Given the description of an element on the screen output the (x, y) to click on. 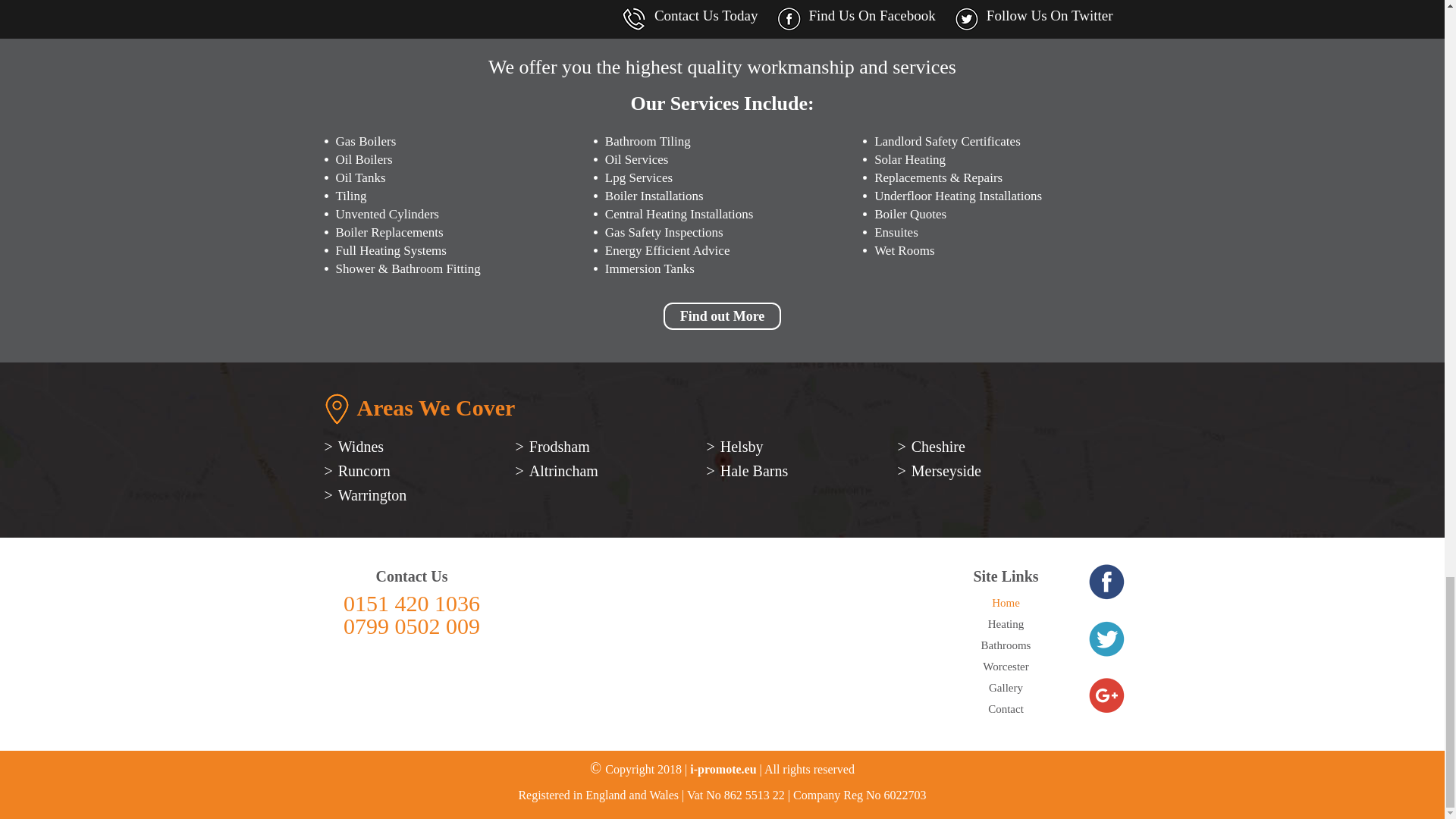
Bathrooms (1005, 645)
Home (1005, 603)
Worcester (1004, 666)
Heating (1005, 623)
